Given the description of an element on the screen output the (x, y) to click on. 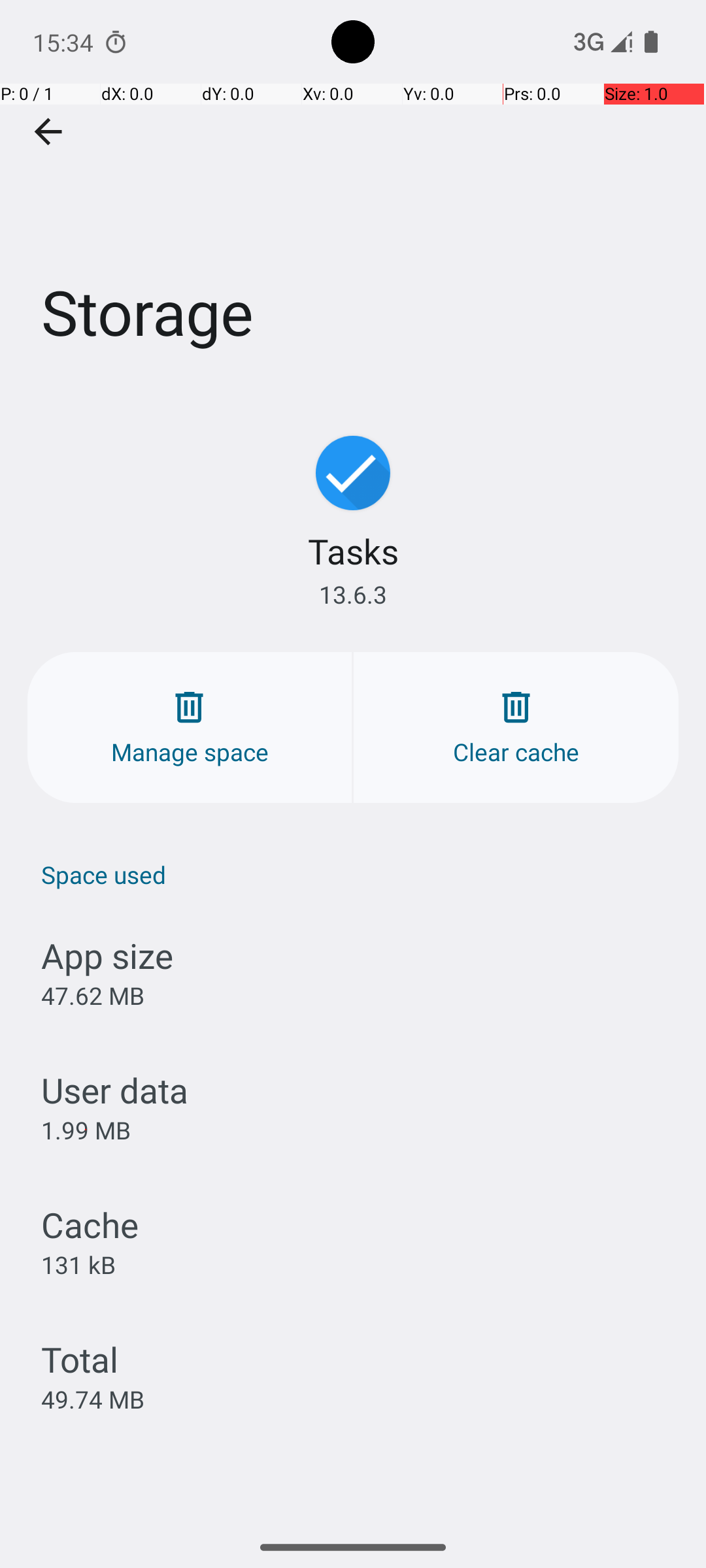
13.6.3 Element type: android.widget.TextView (352, 593)
Manage space Element type: android.widget.Button (189, 727)
47.62 MB Element type: android.widget.TextView (92, 995)
1.99 MB Element type: android.widget.TextView (85, 1129)
131 kB Element type: android.widget.TextView (78, 1264)
49.74 MB Element type: android.widget.TextView (92, 1398)
